Given the description of an element on the screen output the (x, y) to click on. 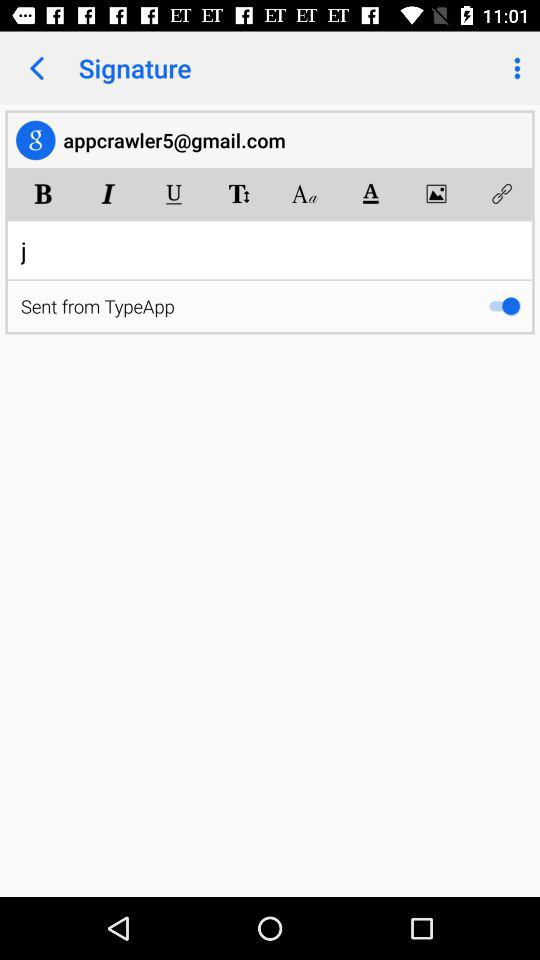
open the icon above j item (108, 193)
